Given the description of an element on the screen output the (x, y) to click on. 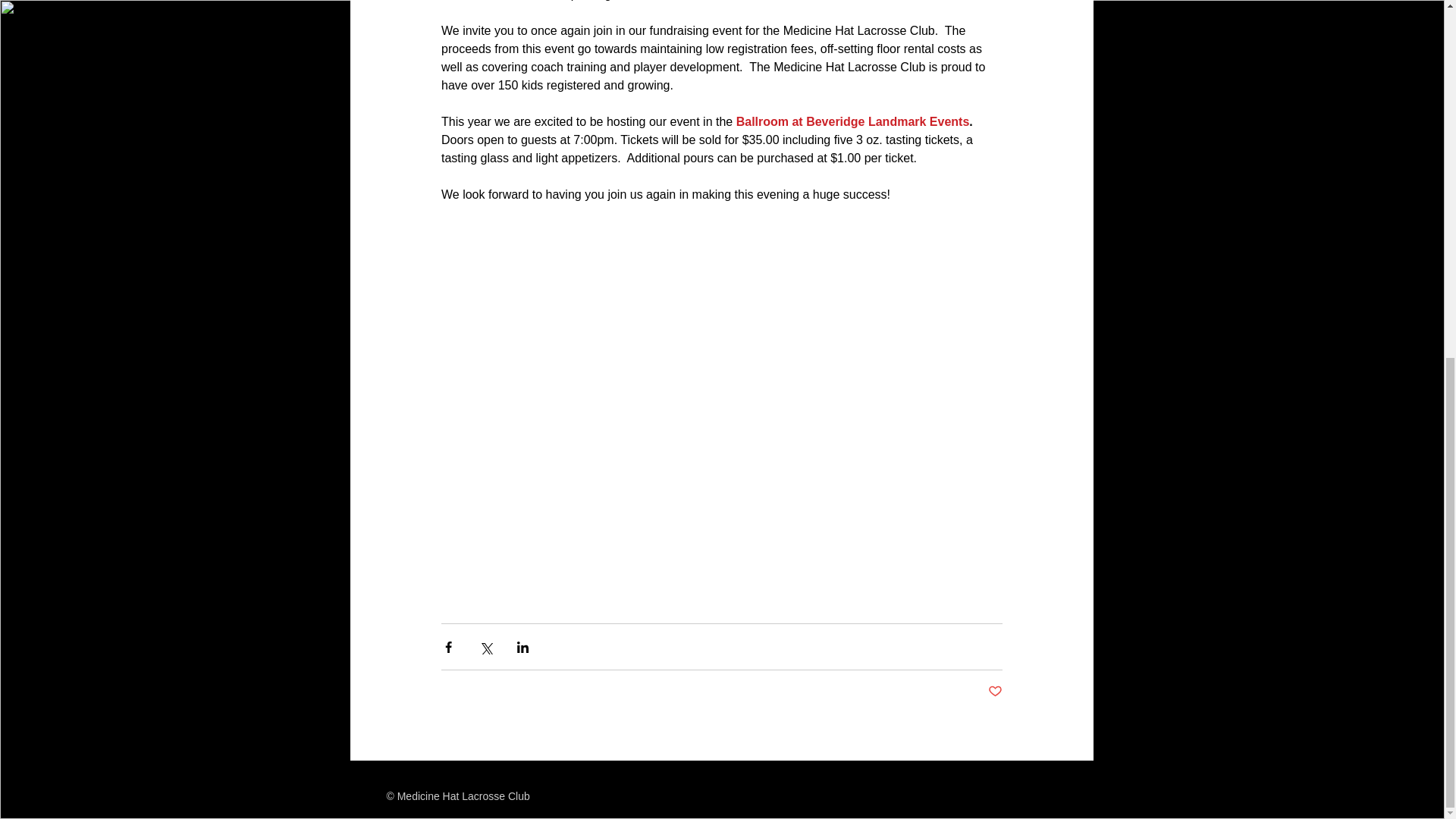
Post not marked as liked (994, 691)
Ballroom at Beveridge Landmark Events (852, 121)
